Given the description of an element on the screen output the (x, y) to click on. 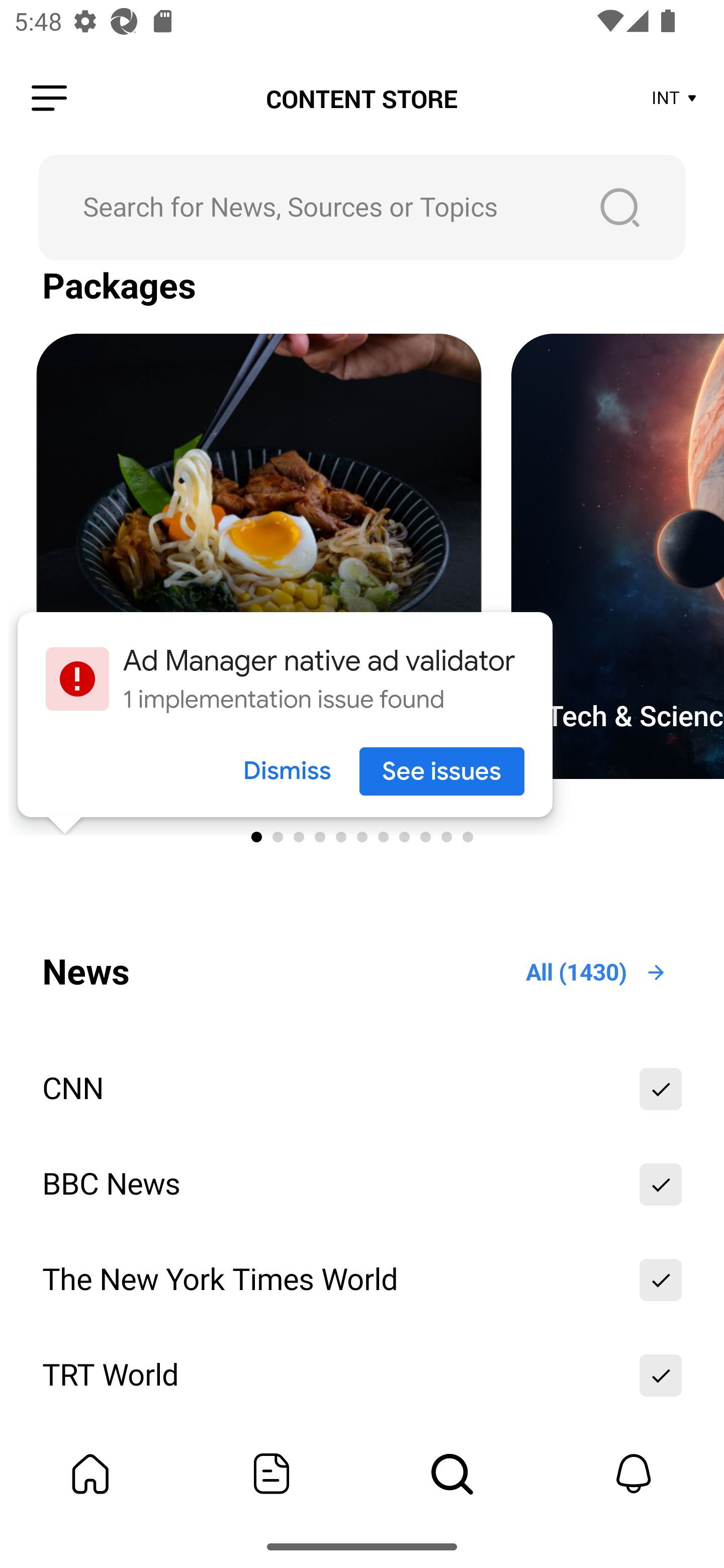
INT Store Area (674, 98)
Leading Icon (49, 98)
Search for News, Sources or Topics Search Button (361, 207)
All (1430) Open All Icon (596, 971)
CNN Add To My Bundle (361, 1088)
Add To My Bundle (660, 1088)
BBC News Add To My Bundle (361, 1184)
Add To My Bundle (660, 1184)
The New York Times World Add To My Bundle (361, 1279)
Add To My Bundle (660, 1279)
TRT World Add To My Bundle (361, 1374)
Add To My Bundle (660, 1374)
My Bundle (90, 1473)
Featured (271, 1473)
Notifications (633, 1473)
